Given the description of an element on the screen output the (x, y) to click on. 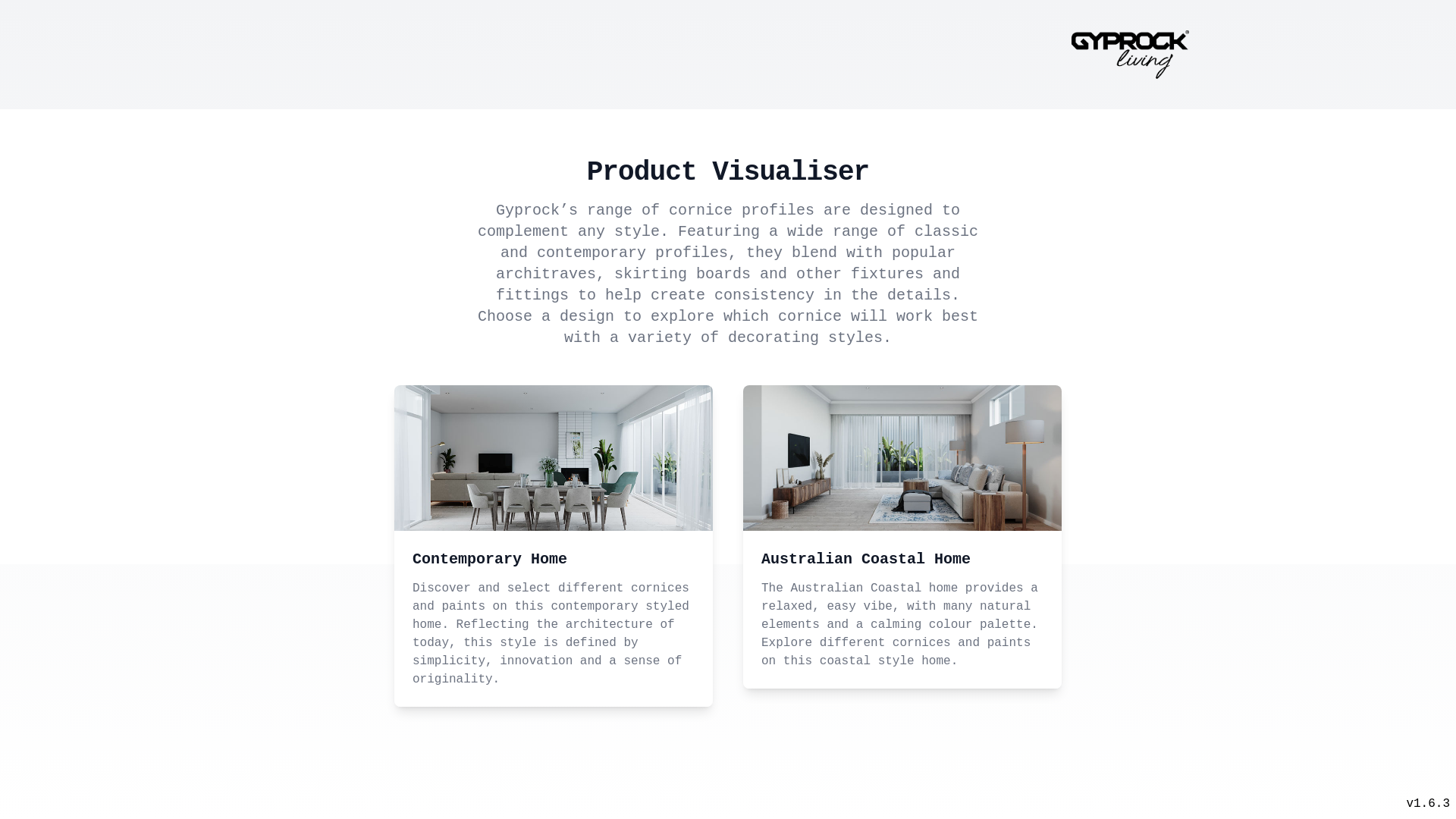
v1.6.3
SoftwareLabs Element type: text (1427, 803)
